Given the description of an element on the screen output the (x, y) to click on. 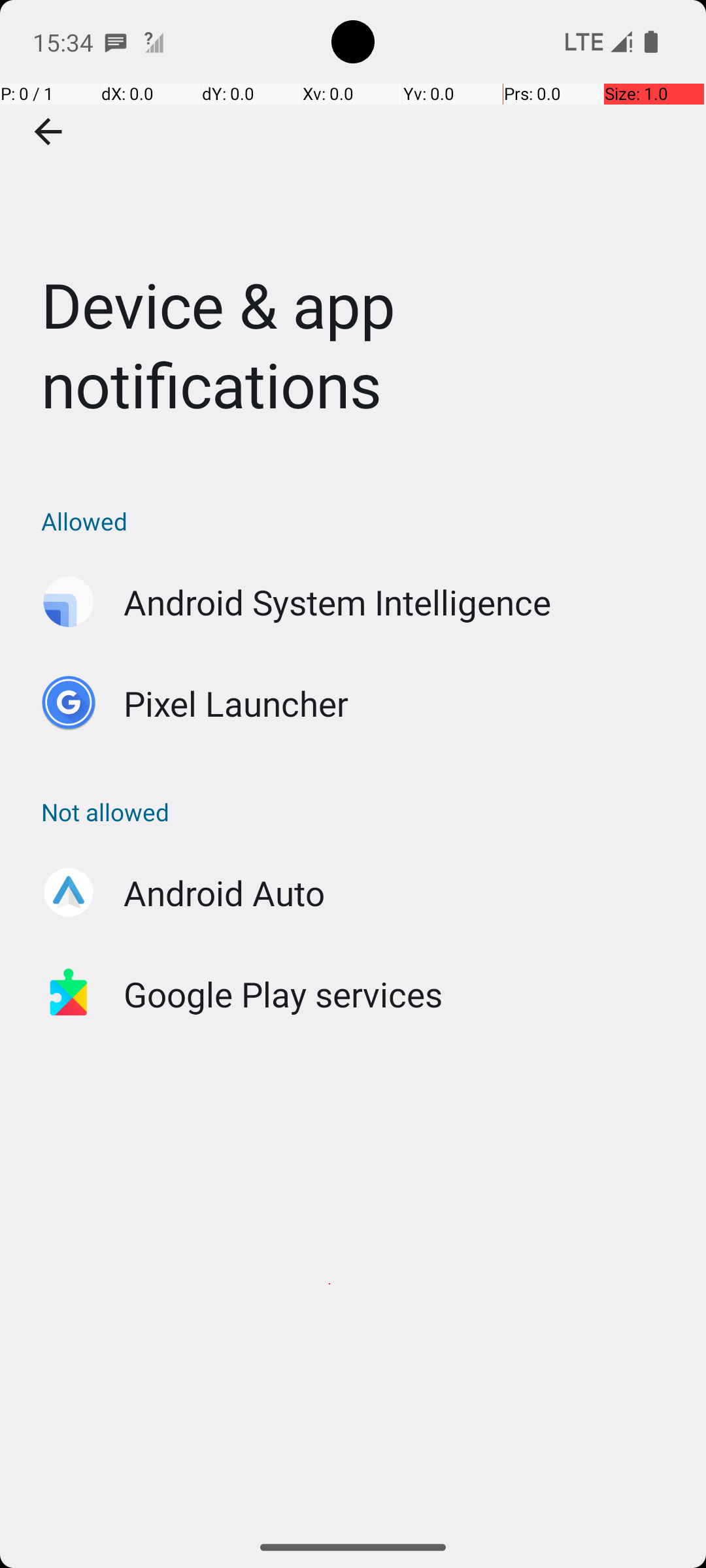
Allowed Element type: android.widget.TextView (359, 520)
Android System Intelligence Element type: android.widget.TextView (337, 601)
Not allowed Element type: android.widget.TextView (359, 811)
